Given the description of an element on the screen output the (x, y) to click on. 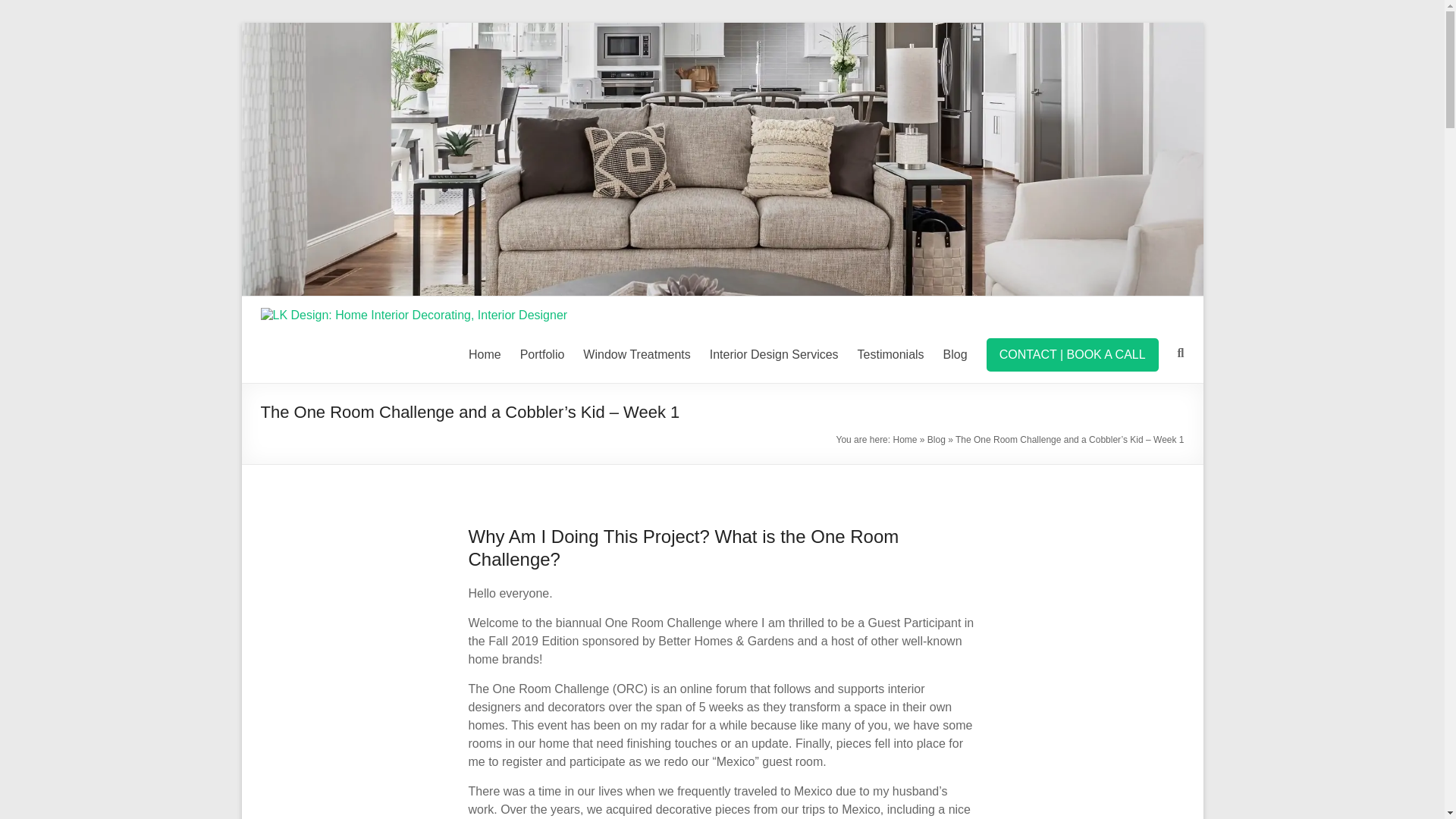
Portfolio (541, 354)
Window Treatments (636, 354)
Home (484, 354)
Home (904, 439)
Blog (935, 439)
Blog (955, 354)
Testimonials (890, 354)
Interior Design Services (774, 354)
LK Design: Home Interior Decorating, Interior Designer (721, 29)
